Given the description of an element on the screen output the (x, y) to click on. 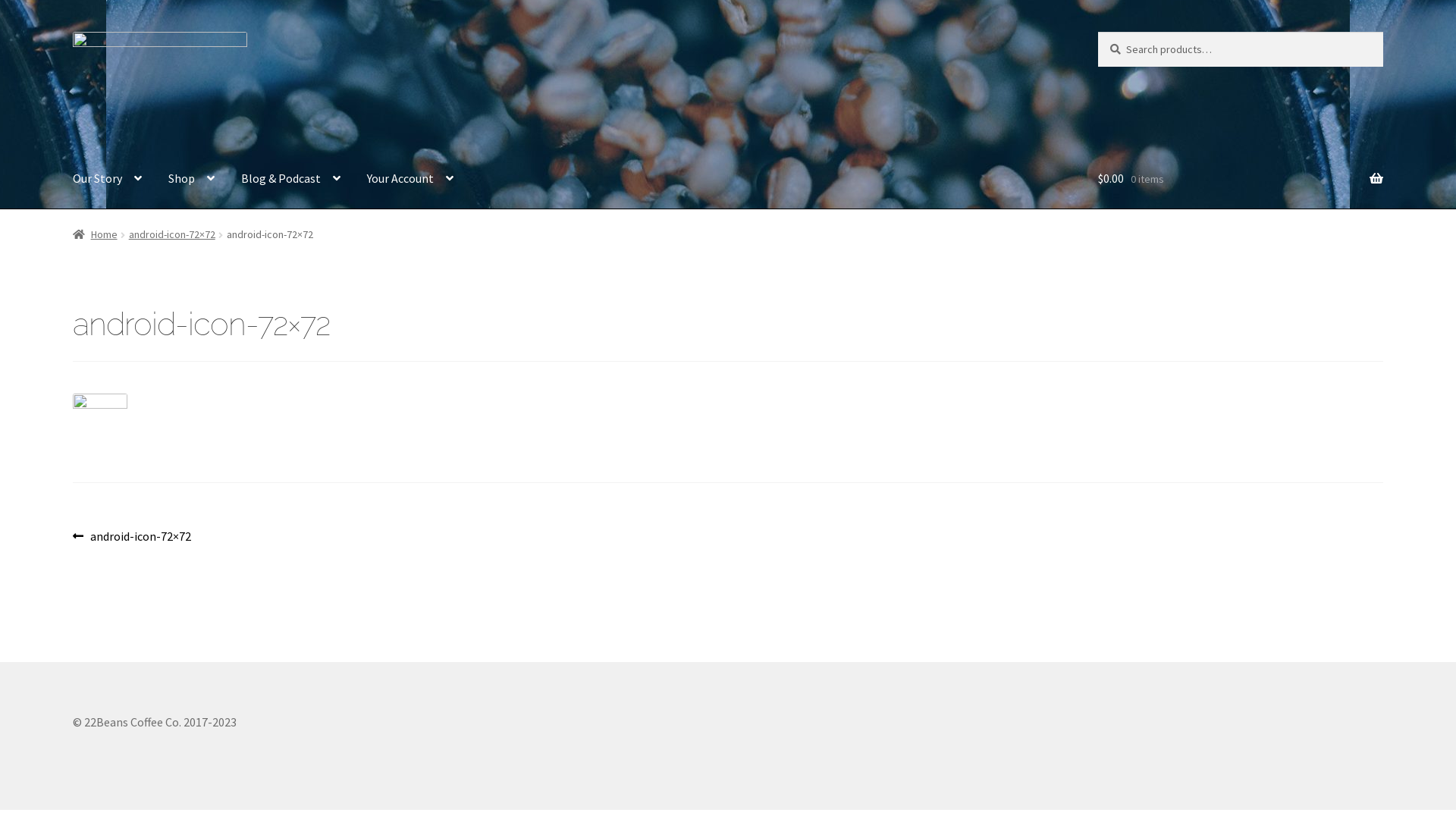
Our Story Element type: text (106, 178)
Your Account Element type: text (409, 178)
$0.00 0 items Element type: text (1240, 178)
Skip to navigation Element type: text (72, 31)
Home Element type: text (94, 234)
Shop Element type: text (191, 178)
Search Element type: text (1097, 31)
Blog & Podcast Element type: text (290, 178)
